Given the description of an element on the screen output the (x, y) to click on. 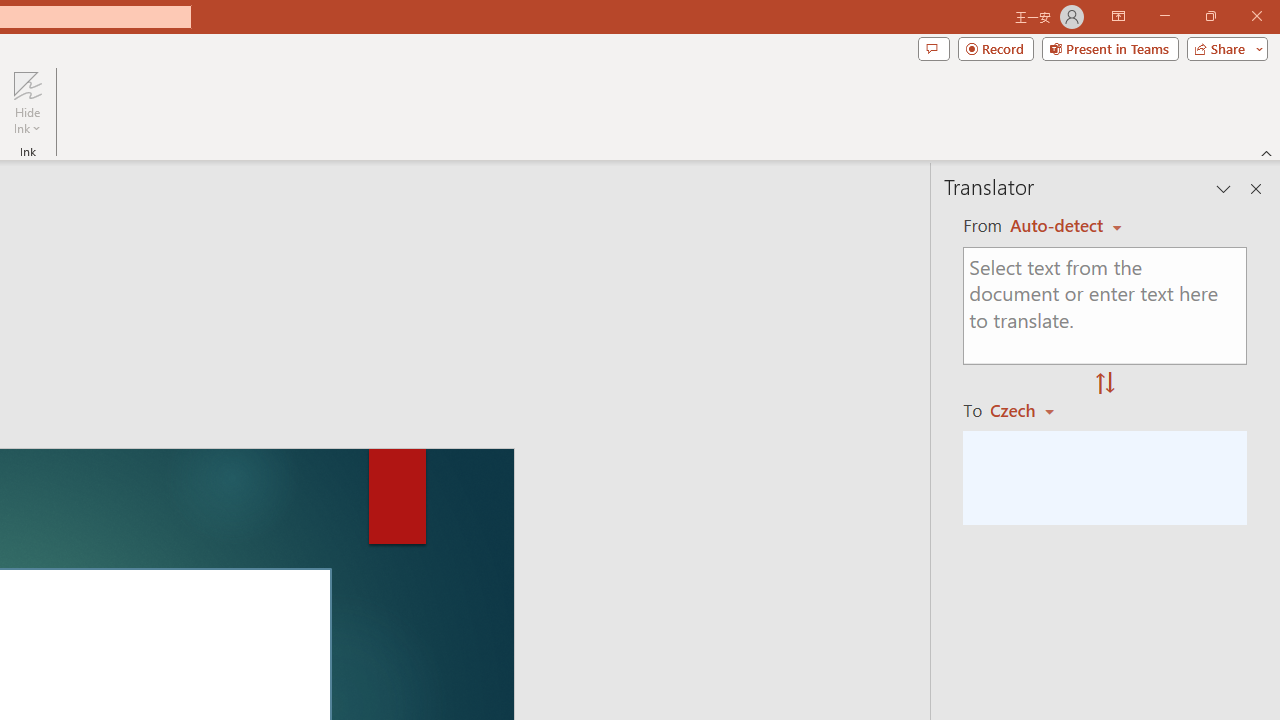
Hide Ink (27, 84)
Swap "from" and "to" languages. (1105, 383)
